Given the description of an element on the screen output the (x, y) to click on. 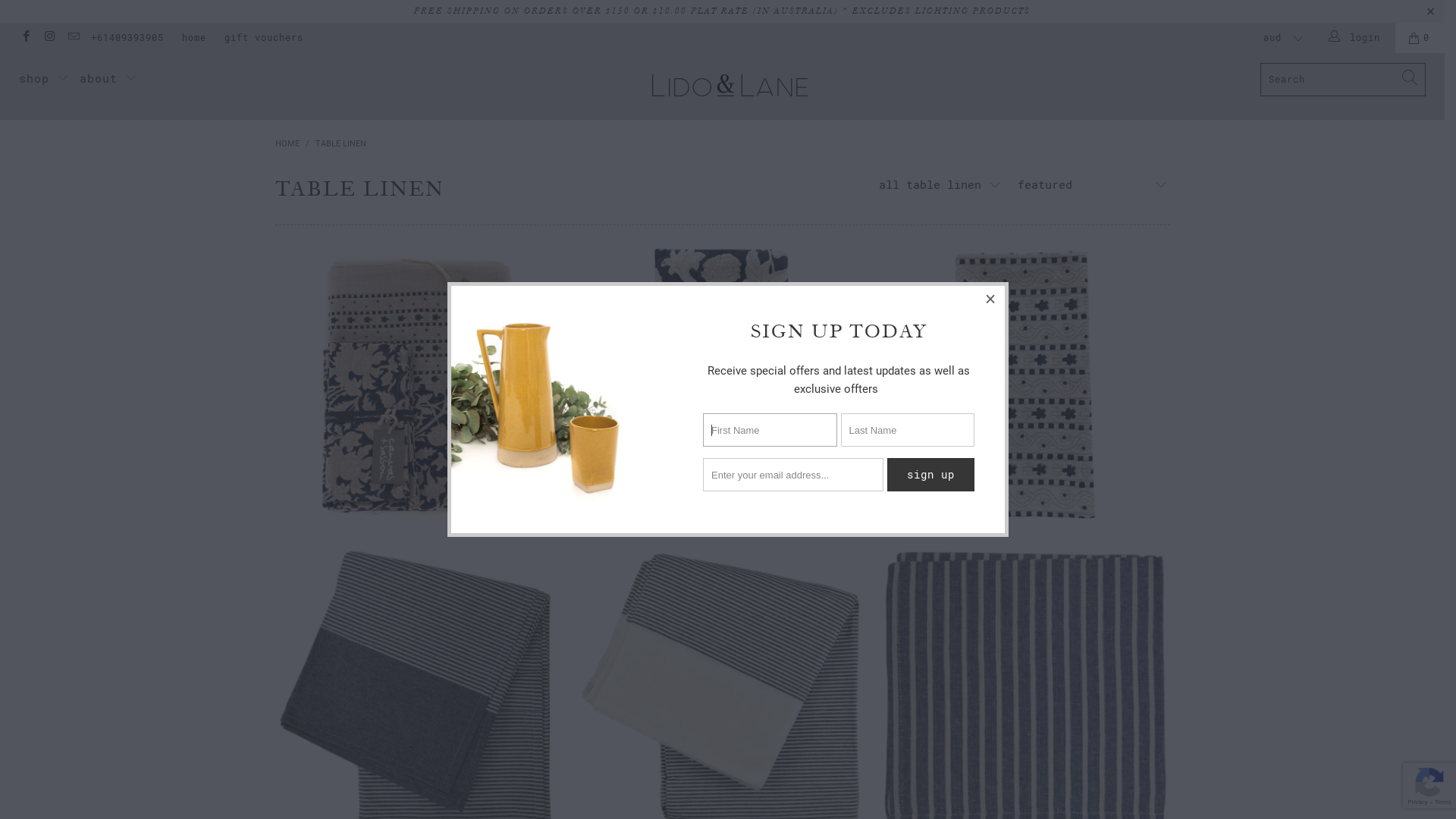
lidoandlane on Instagram Element type: hover (48, 37)
lidoandlane on Facebook Element type: hover (24, 37)
shop Element type: text (43, 78)
Email lidoandlane Element type: hover (72, 37)
0 Element type: text (1419, 37)
lidoandlane Element type: hover (729, 86)
+61409393905 Element type: text (127, 37)
Sign Up Element type: text (930, 474)
about Element type: text (108, 78)
home Element type: text (194, 37)
TABLE LINEN Element type: text (340, 143)
login Element type: text (1355, 37)
HOME Element type: text (286, 143)
Close Element type: hover (990, 299)
gift vouchers Element type: text (263, 37)
